Given the description of an element on the screen output the (x, y) to click on. 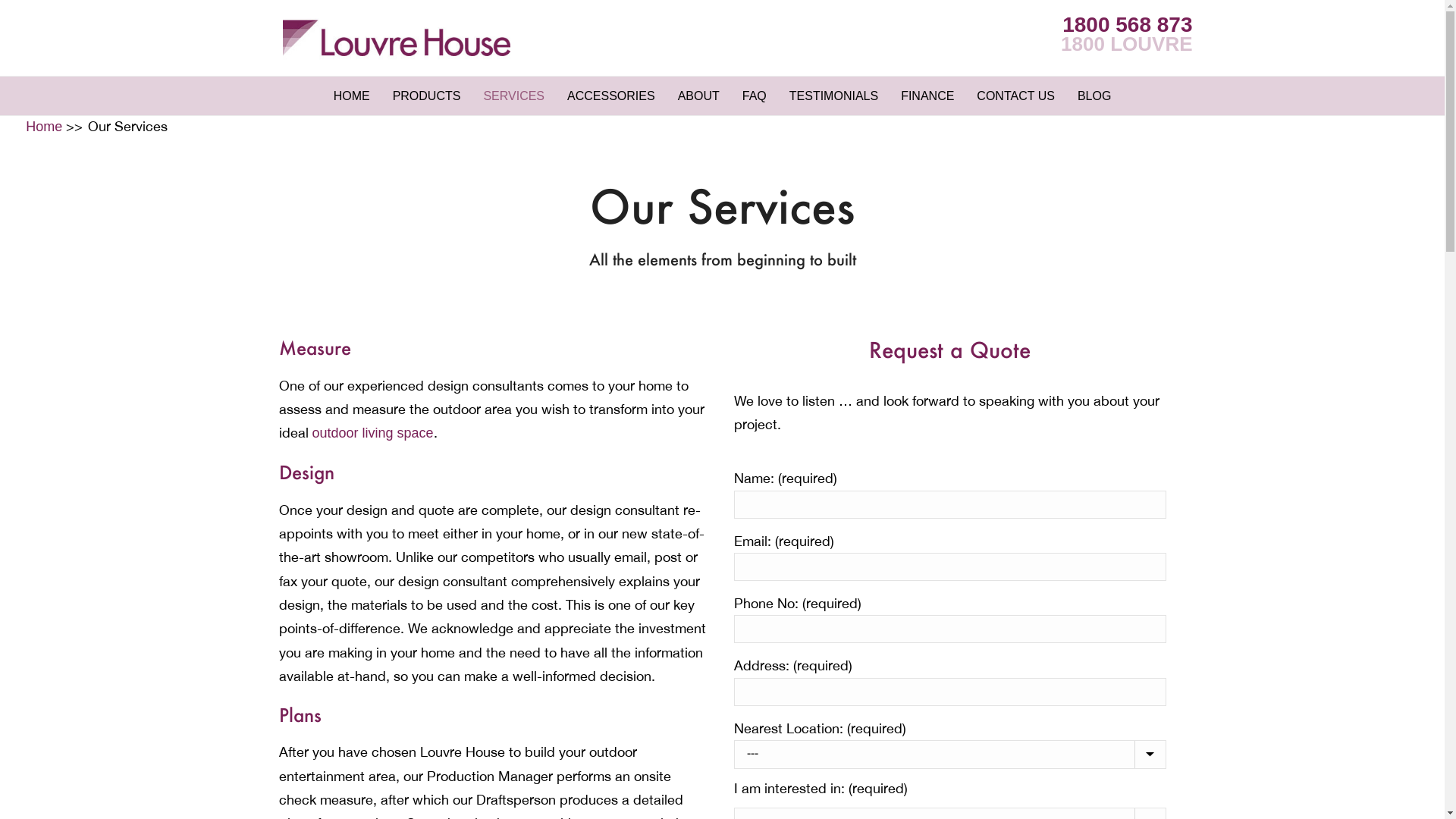
PRODUCTS Element type: text (426, 95)
BLOG Element type: text (1094, 95)
Bringing Opening Closing Roof Systems into the 21st Century Element type: hover (395, 37)
ABOUT Element type: text (698, 95)
outdoor living space Element type: text (372, 432)
FINANCE Element type: text (927, 95)
Louvre House Element type: hover (395, 37)
CONTACT US Element type: text (1015, 95)
ACCESSORIES Element type: text (610, 95)
Home Element type: text (43, 126)
SERVICES Element type: text (513, 95)
HOME Element type: text (351, 95)
FAQ Element type: text (754, 95)
TESTIMONIALS Element type: text (833, 95)
1800 568 873
1800 LOUVRE Element type: text (1126, 34)
